Given the description of an element on the screen output the (x, y) to click on. 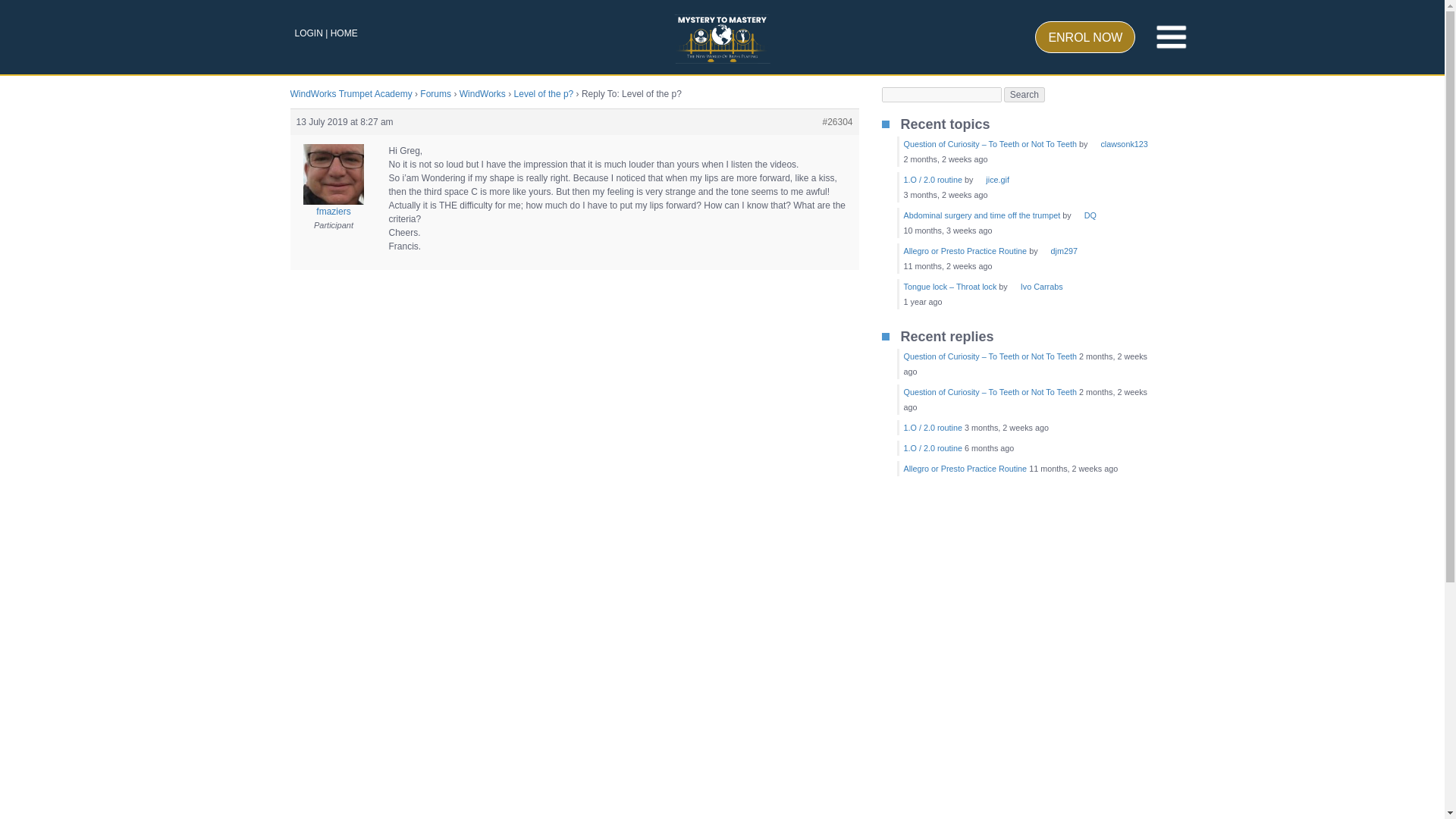
clawsonk123 (1118, 143)
Allegro or Presto Practice Routine (965, 250)
View DQ's profile (1085, 215)
View clawsonk123's profile (1118, 143)
View djm297's profile (1059, 250)
jice.gif (992, 179)
Forums (435, 93)
Level of the p? (543, 93)
View jice.gif's profile (992, 179)
WindWorks (482, 93)
